Given the description of an element on the screen output the (x, y) to click on. 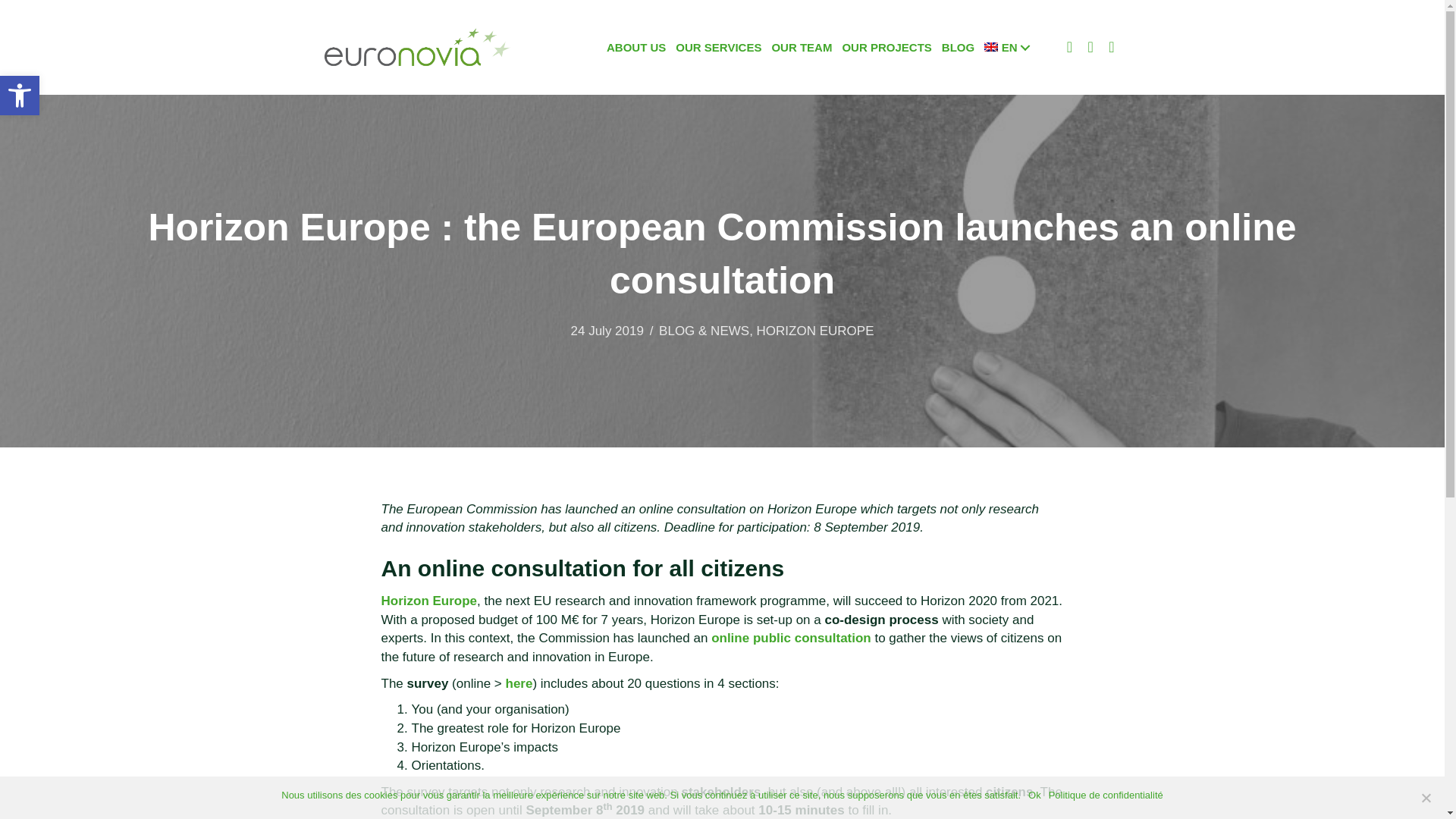
OUR PROJECTS (886, 47)
here (518, 683)
HORIZON EUROPE (816, 330)
OUR SERVICES (718, 47)
ABOUT US (635, 47)
BLOG (957, 47)
EN (1005, 47)
Non (1425, 797)
Accessibility Tools (19, 95)
Accessibility Tools (19, 95)
Logo-HD-sans baseline copie (417, 46)
online public consultation (790, 637)
Horizon Europe (428, 600)
OUR TEAM (801, 47)
EN (1005, 47)
